Given the description of an element on the screen output the (x, y) to click on. 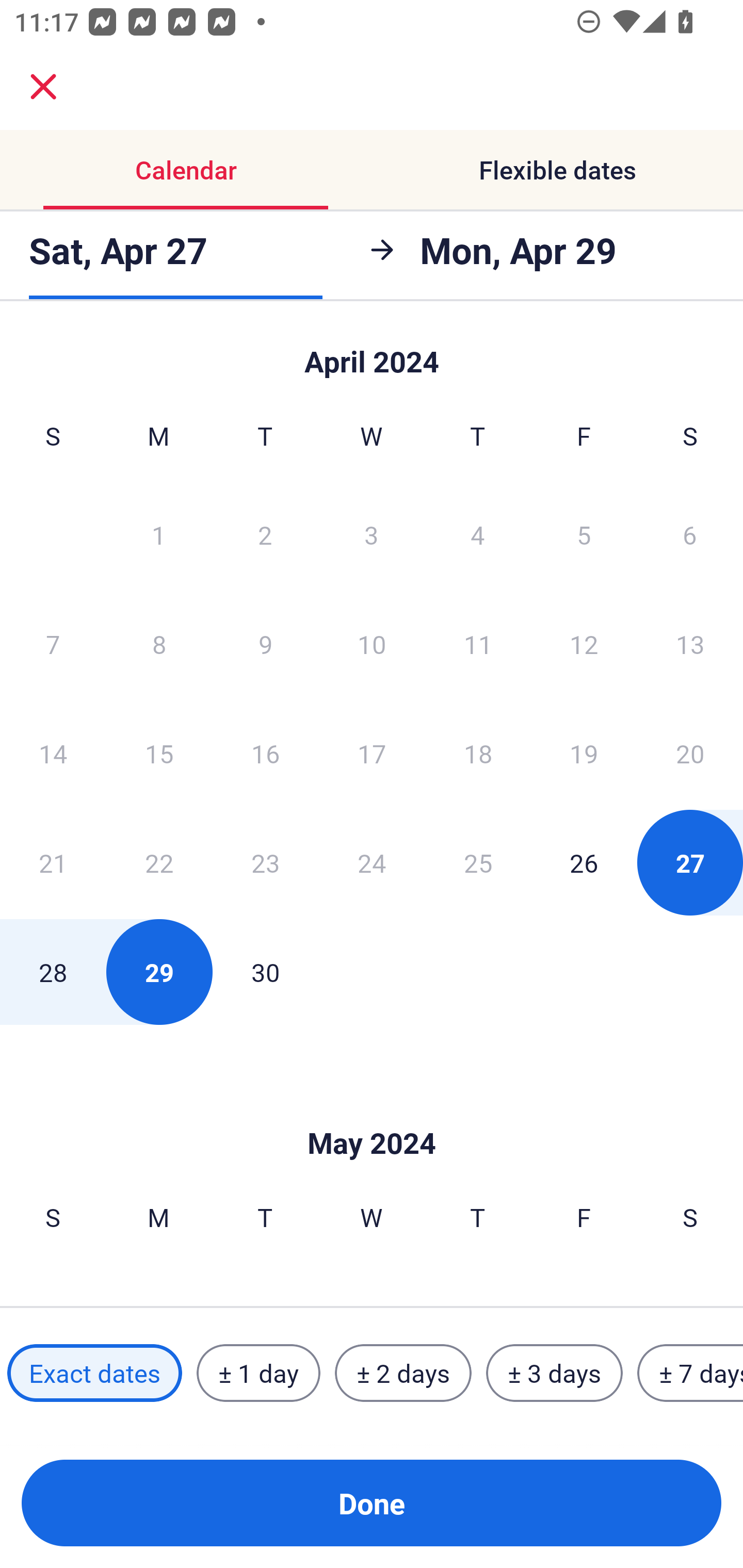
close. (43, 86)
Flexible dates (557, 170)
Skip to Done (371, 352)
1 Monday, April 1, 2024 (158, 534)
2 Tuesday, April 2, 2024 (264, 534)
3 Wednesday, April 3, 2024 (371, 534)
4 Thursday, April 4, 2024 (477, 534)
5 Friday, April 5, 2024 (583, 534)
6 Saturday, April 6, 2024 (689, 534)
7 Sunday, April 7, 2024 (53, 643)
8 Monday, April 8, 2024 (159, 643)
9 Tuesday, April 9, 2024 (265, 643)
10 Wednesday, April 10, 2024 (371, 643)
11 Thursday, April 11, 2024 (477, 643)
12 Friday, April 12, 2024 (584, 643)
13 Saturday, April 13, 2024 (690, 643)
14 Sunday, April 14, 2024 (53, 752)
15 Monday, April 15, 2024 (159, 752)
16 Tuesday, April 16, 2024 (265, 752)
17 Wednesday, April 17, 2024 (371, 752)
18 Thursday, April 18, 2024 (477, 752)
19 Friday, April 19, 2024 (584, 752)
20 Saturday, April 20, 2024 (690, 752)
21 Sunday, April 21, 2024 (53, 862)
22 Monday, April 22, 2024 (159, 862)
23 Tuesday, April 23, 2024 (265, 862)
24 Wednesday, April 24, 2024 (371, 862)
25 Thursday, April 25, 2024 (477, 862)
26 Friday, April 26, 2024 (584, 862)
30 Tuesday, April 30, 2024 (265, 971)
Skip to Done (371, 1112)
Exact dates (94, 1372)
± 1 day (258, 1372)
± 2 days (403, 1372)
± 3 days (553, 1372)
± 7 days (690, 1372)
Done (371, 1502)
